Given the description of an element on the screen output the (x, y) to click on. 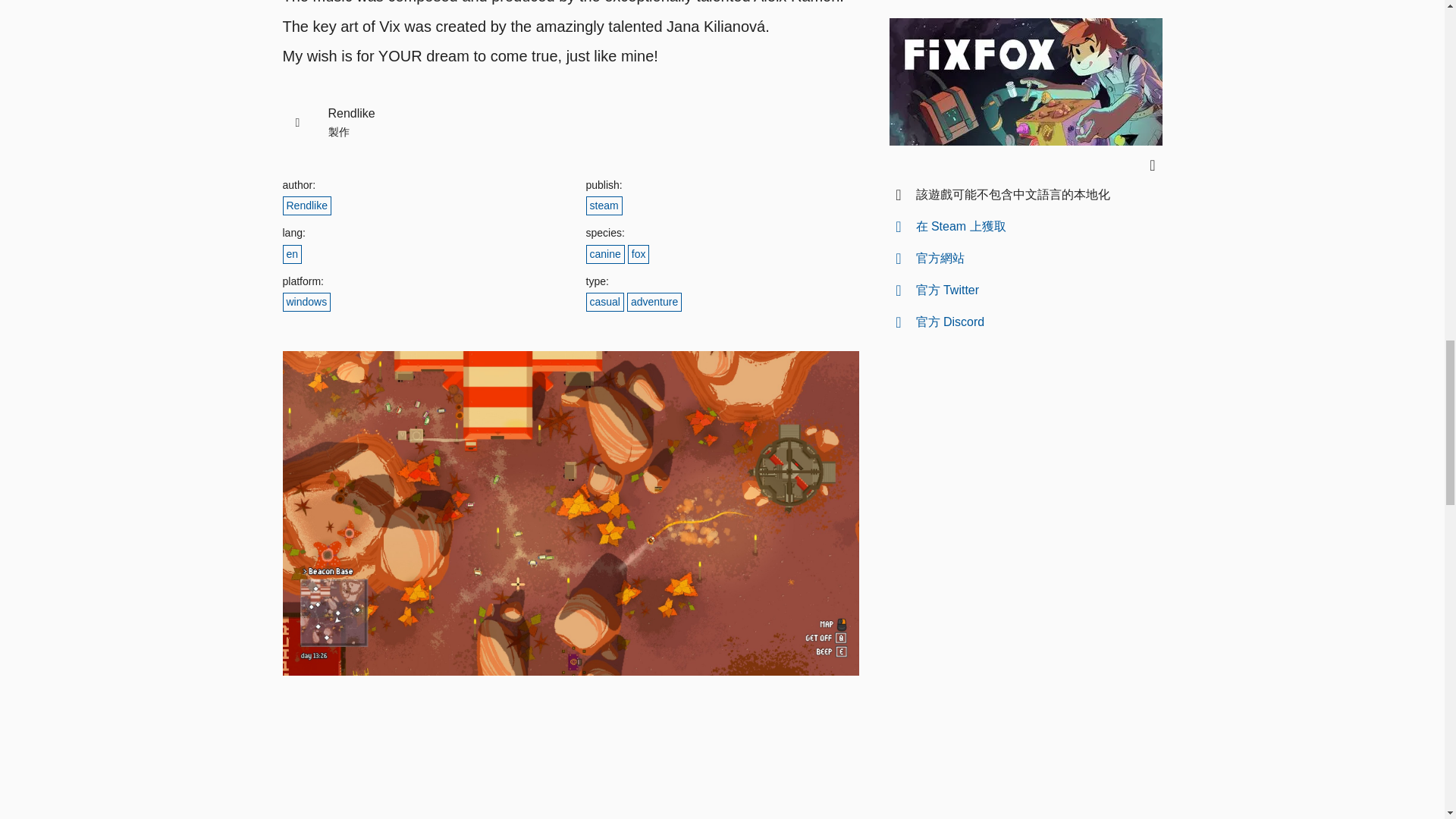
windows (306, 302)
fox (638, 253)
canine (604, 253)
Rendlike (306, 205)
adventure (654, 302)
casual (604, 302)
en (291, 253)
steam (603, 205)
